Given the description of an element on the screen output the (x, y) to click on. 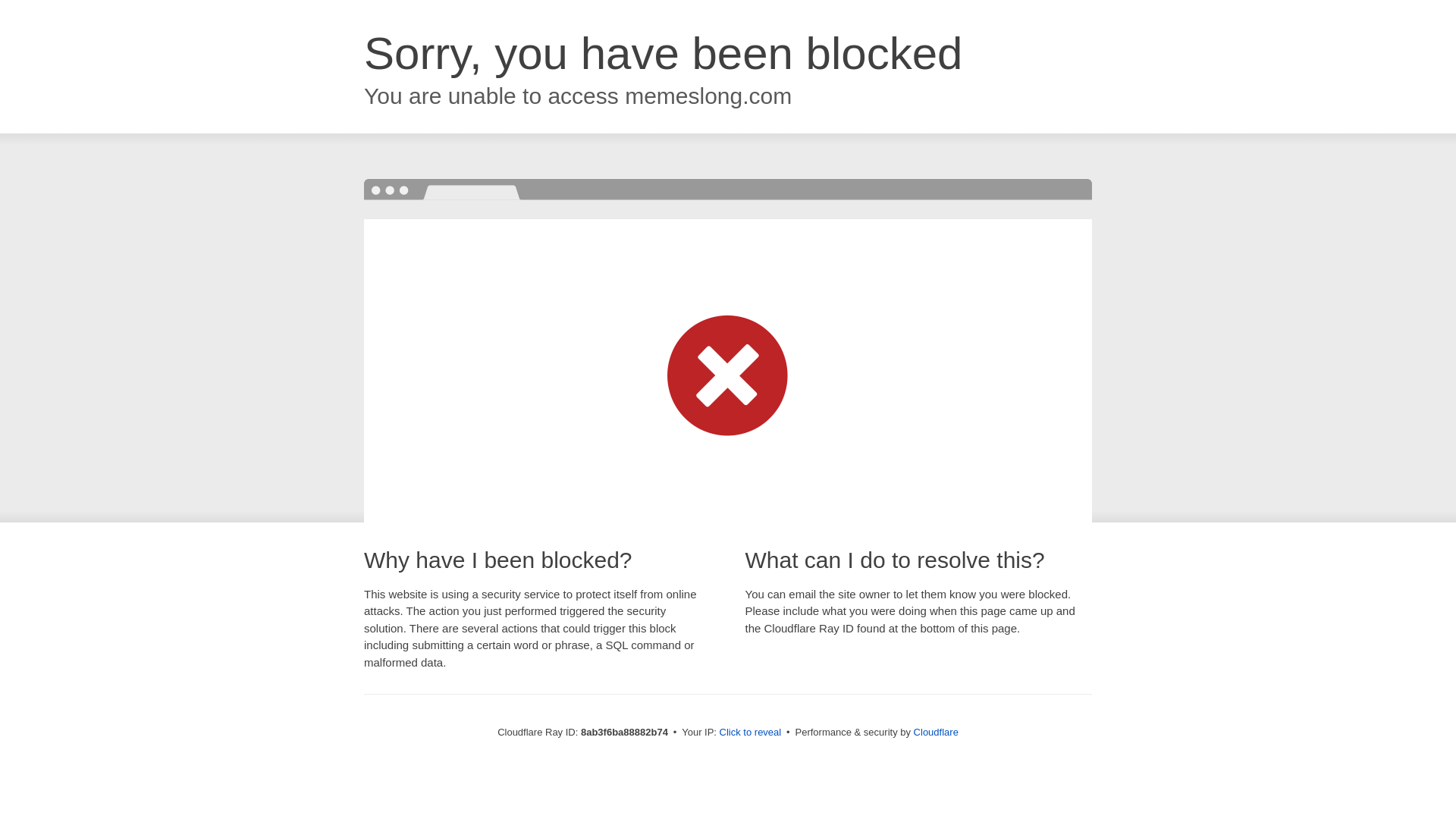
Click to reveal (750, 732)
Cloudflare (936, 731)
